Given the description of an element on the screen output the (x, y) to click on. 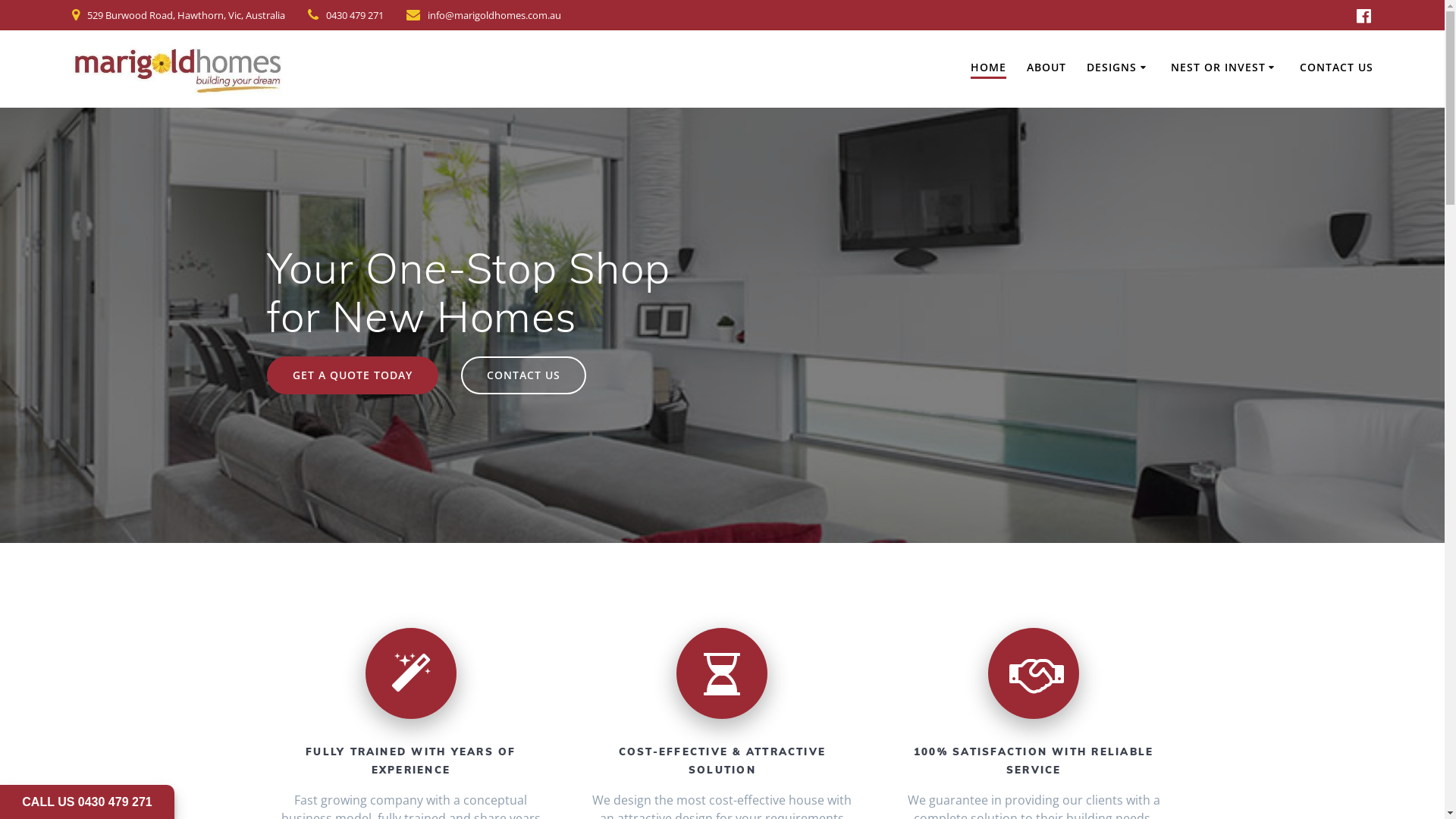
ABOUT Element type: text (1046, 67)
CONTACT US Element type: text (523, 375)
GET A QUOTE TODAY Element type: text (352, 375)
DESIGNS Element type: text (1118, 67)
NEST OR INVEST Element type: text (1224, 67)
CALL US 0430 479 271 Element type: text (86, 801)
Skip to content Element type: text (0, 0)
HOME Element type: text (988, 68)
CONTACT US Element type: text (1336, 67)
